Given the description of an element on the screen output the (x, y) to click on. 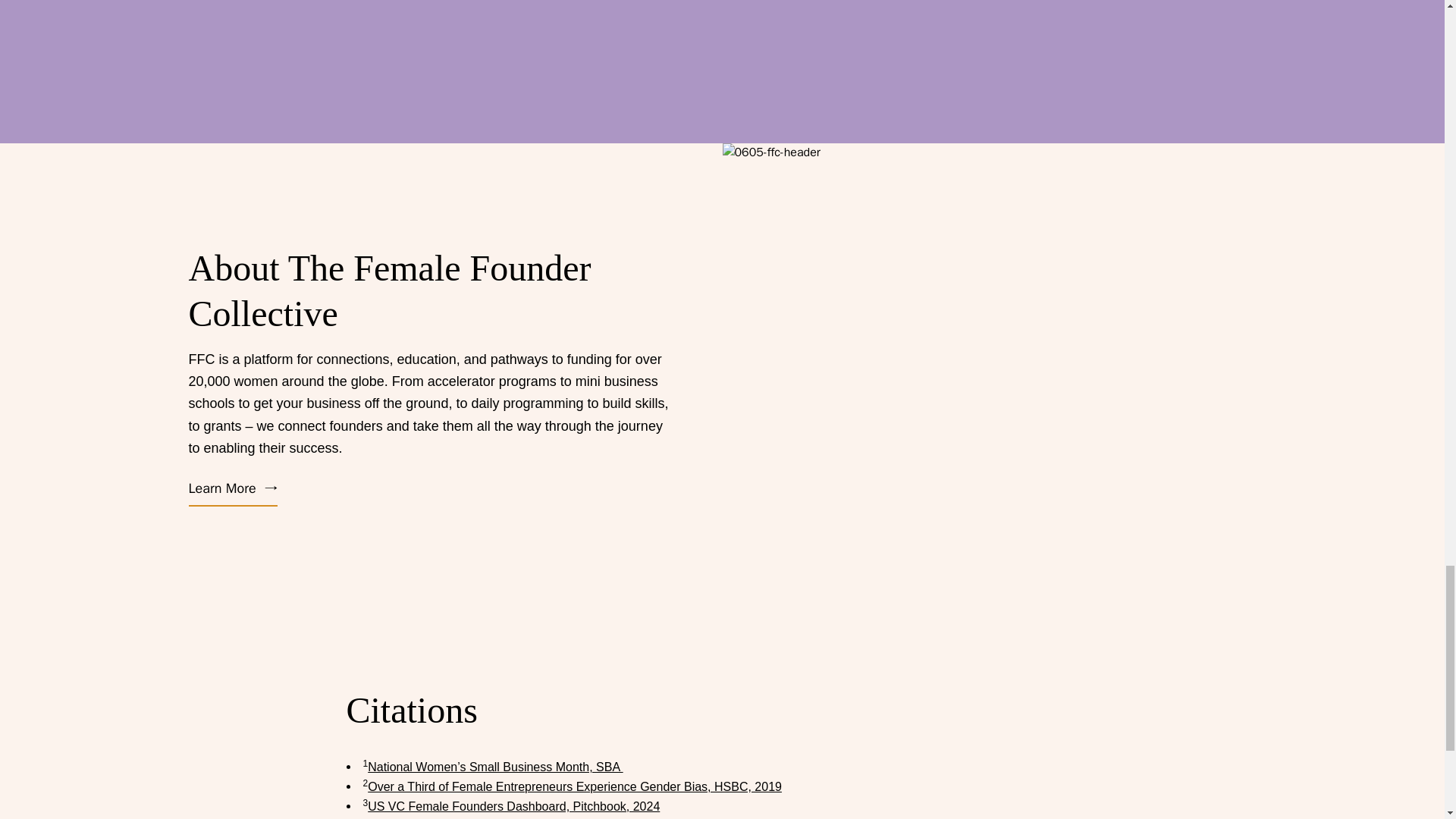
US VC Female Founders Dashboard, Pitchbook, 2024 (513, 806)
